Given the description of an element on the screen output the (x, y) to click on. 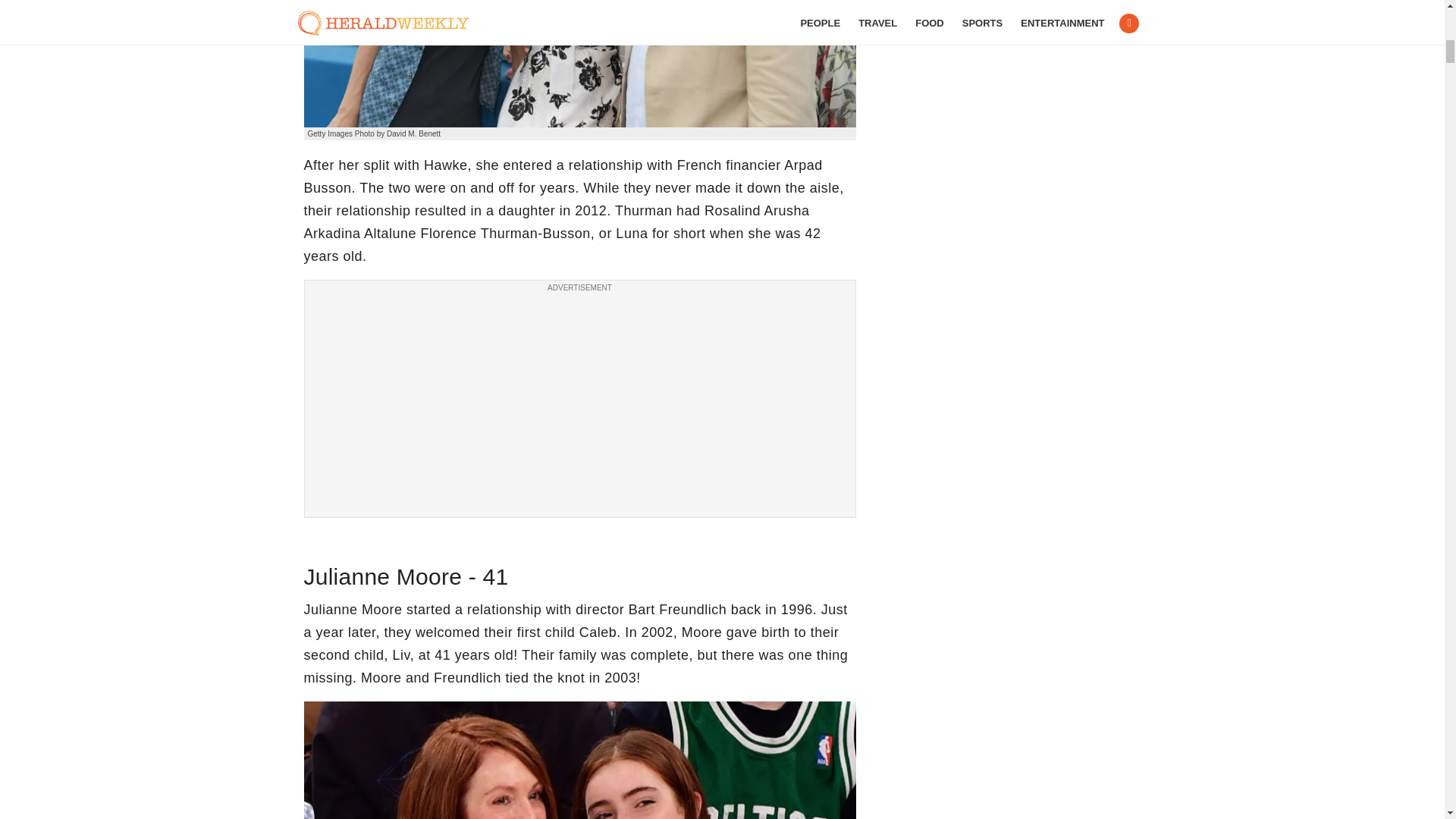
Julianne Moore - 41 (579, 760)
Uma Thurman - 42 (579, 63)
